Given the description of an element on the screen output the (x, y) to click on. 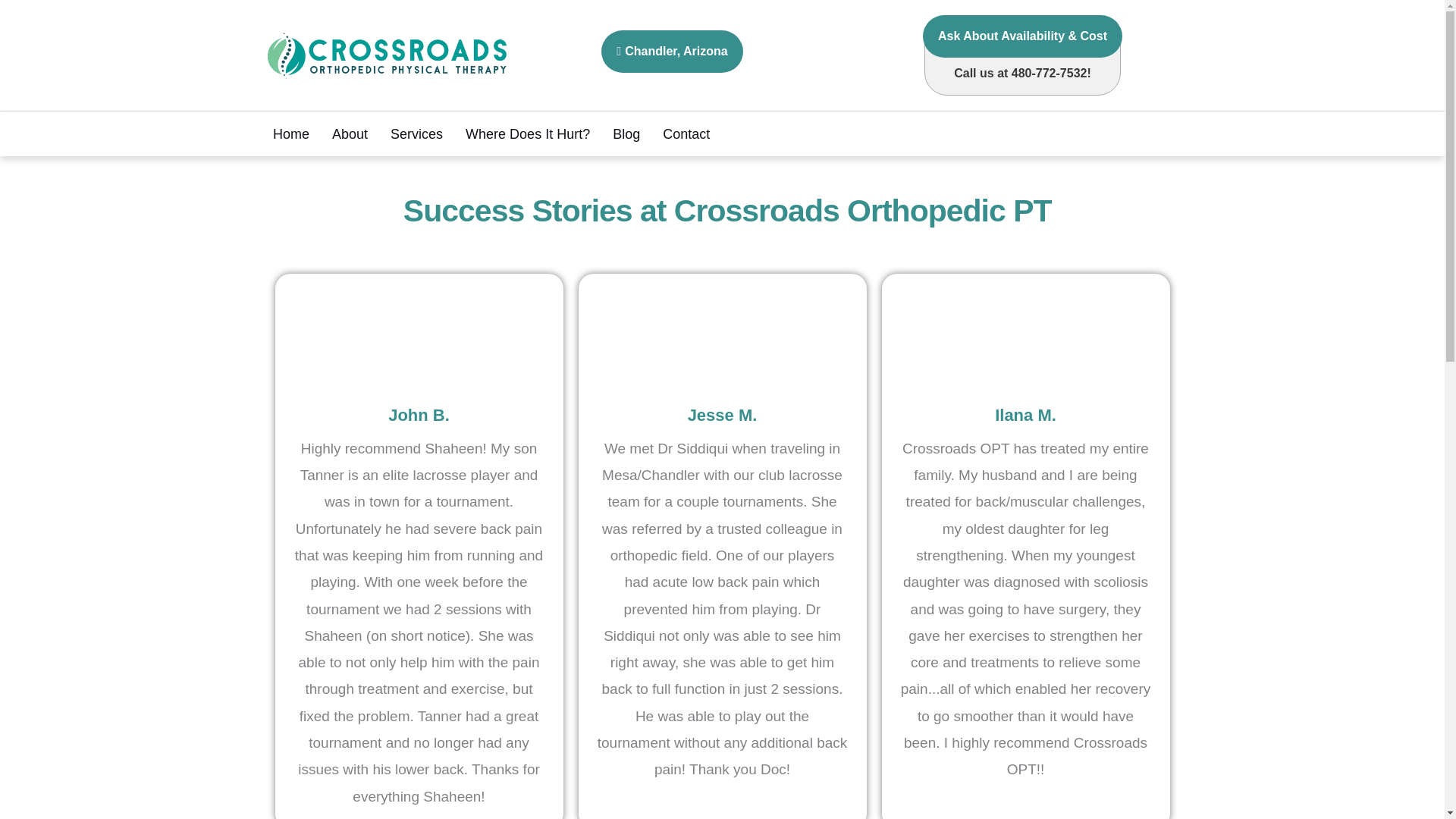
Chandler, Arizona (671, 51)
Home (290, 133)
Blog (626, 133)
Services (416, 133)
About (349, 133)
Where Does It Hurt? (527, 133)
Call us at 480-772-7532! (1022, 65)
Contact (686, 133)
